Given the description of an element on the screen output the (x, y) to click on. 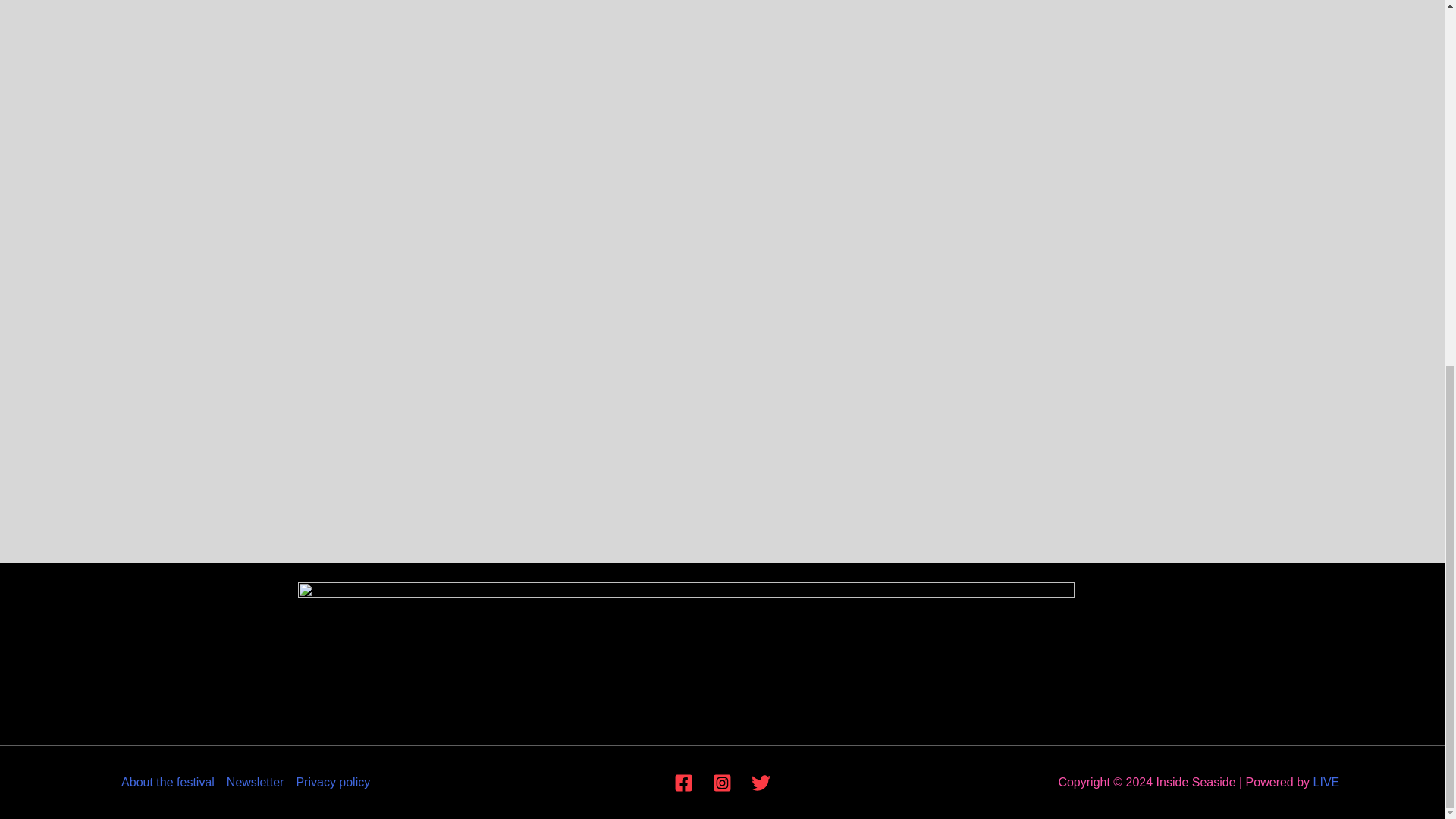
Privacy policy (329, 782)
Newsletter (255, 782)
About the festival (170, 782)
LIVE (1326, 781)
